Given the description of an element on the screen output the (x, y) to click on. 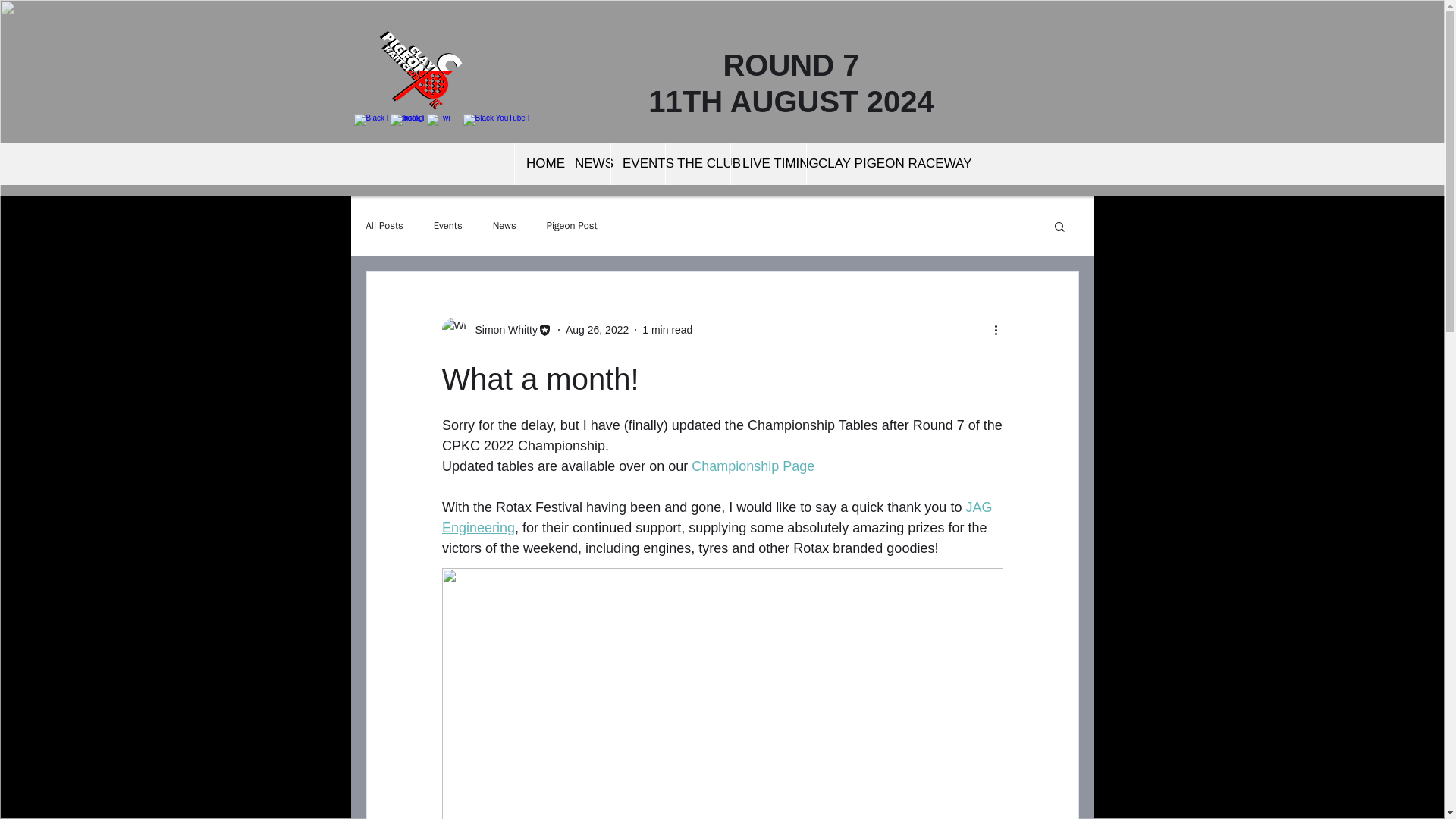
1 min read (667, 328)
All Posts (384, 225)
NEWS (586, 163)
Aug 26, 2022 (597, 328)
News (504, 225)
THE CLUB (697, 163)
Pigeon Post (571, 225)
Championship Page (752, 466)
JAG Engineering (717, 517)
CLAY PIGEON RACEWAY (868, 163)
HOME (537, 163)
Events (448, 225)
Clay Pigeon Kart Club.png (419, 71)
Simon Whitty (501, 329)
LIVE TIMING (768, 163)
